Given the description of an element on the screen output the (x, y) to click on. 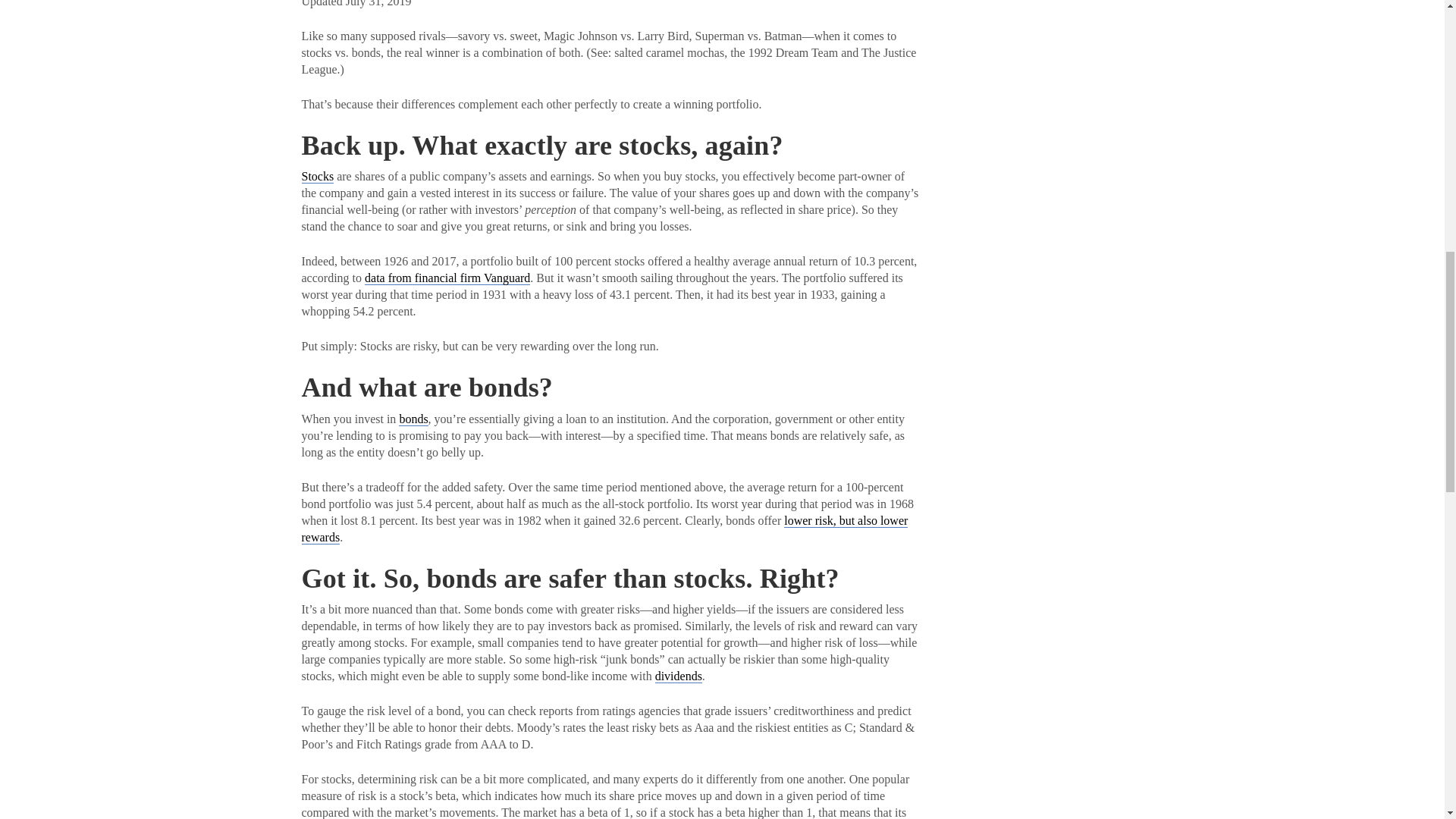
bonds (413, 418)
data from financial firm Vanguard (447, 278)
Stocks (317, 176)
dividends (678, 676)
lower risk, but also lower rewards (604, 529)
